Given the description of an element on the screen output the (x, y) to click on. 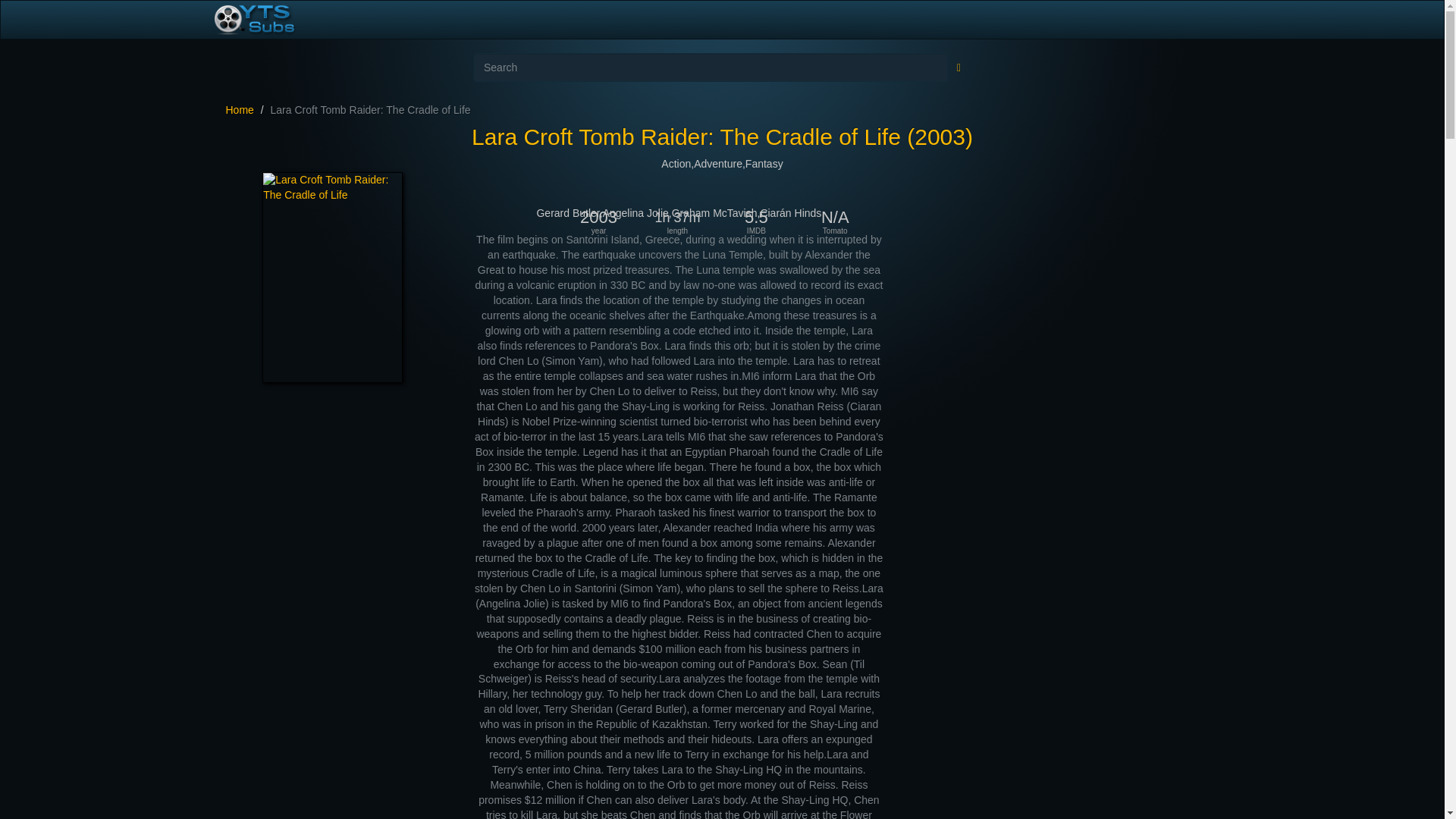
Home (239, 110)
Subtitles for YIFY movie (271, 19)
